Given the description of an element on the screen output the (x, y) to click on. 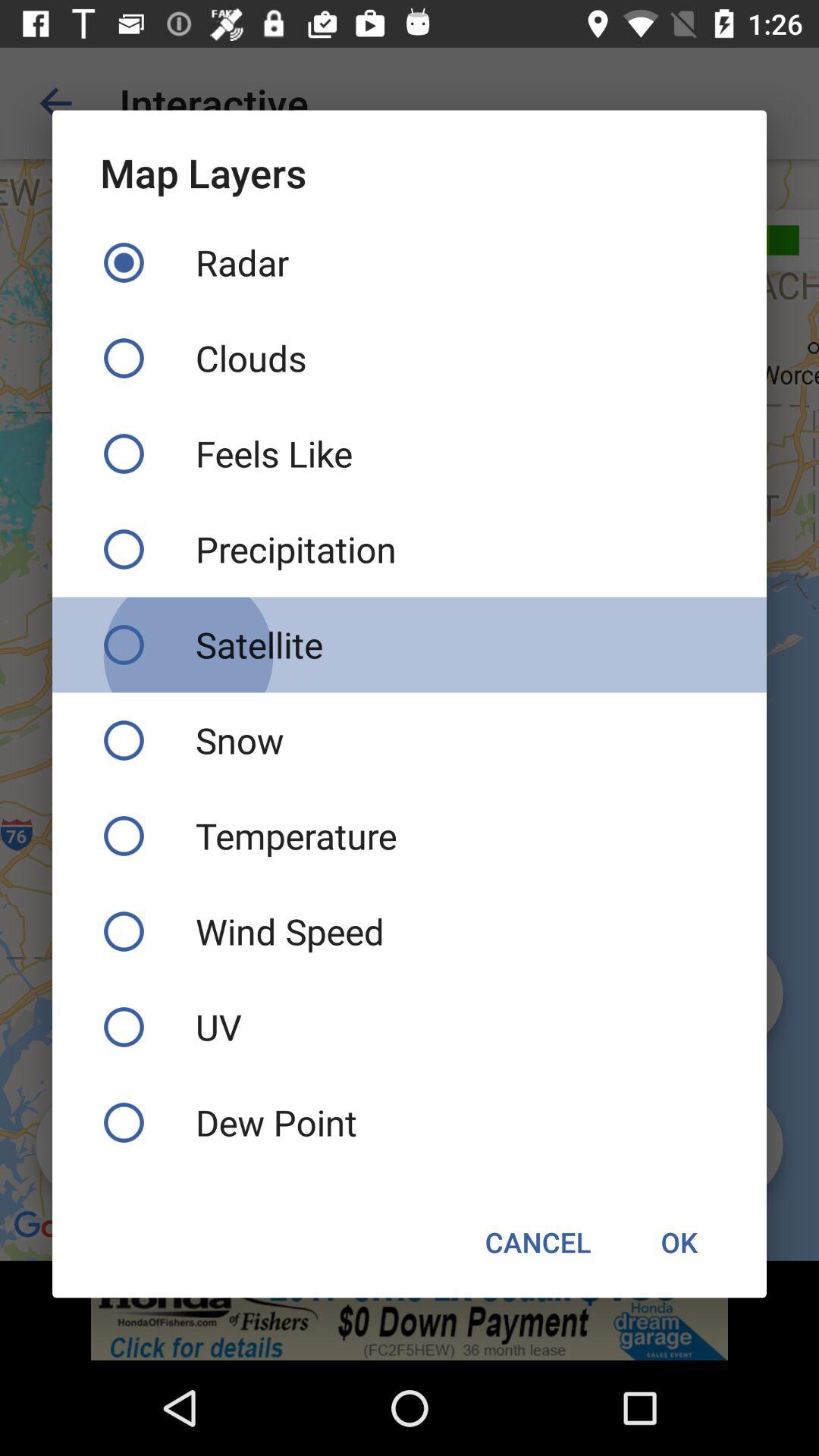
click cancel (538, 1241)
